Given the description of an element on the screen output the (x, y) to click on. 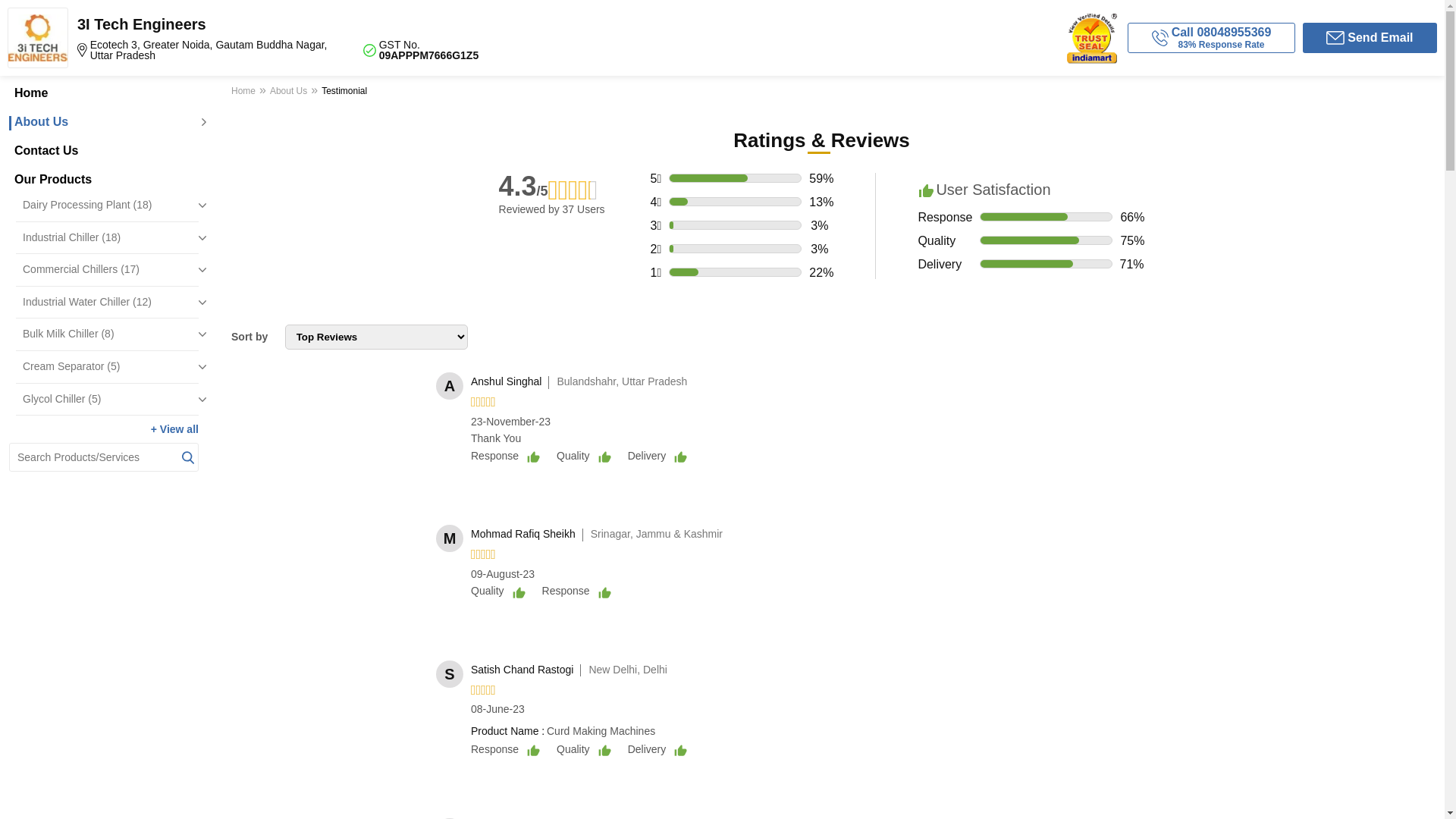
Dairy Processing Plant (18) Element type: text (110, 205)
About Us Element type: text (103, 122)
Home Element type: text (245, 92)
Send Email Element type: text (1369, 37)
Glycol Chiller (5) Element type: text (110, 399)
0 Element type: text (292, 290)
Call 08048955369
83% Response Rate Element type: text (1211, 37)
+ View all Element type: text (174, 428)
Industrial Water Chiller (12) Element type: text (110, 302)
Contact Us Element type: text (103, 150)
Bulk Milk Chiller (8) Element type: text (110, 334)
Industrial Chiller (18) Element type: text (110, 237)
Home Element type: text (103, 93)
Cream Separator (5) Element type: text (110, 366)
About Us Element type: text (288, 92)
Our Products Element type: text (103, 179)
Commercial Chillers (17) Element type: text (110, 269)
